Given the description of an element on the screen output the (x, y) to click on. 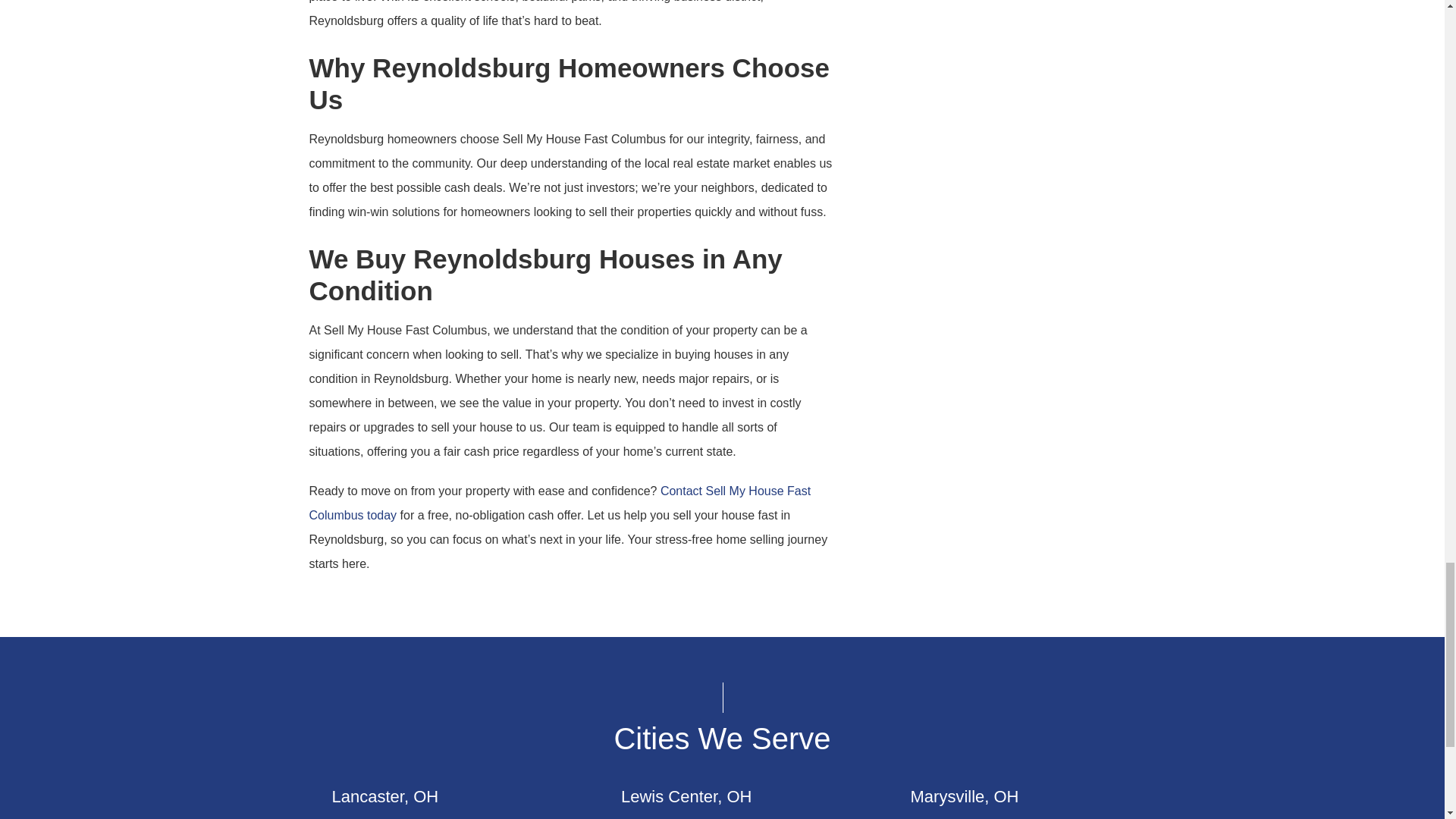
Contact Sell My House Fast Columbus today (559, 502)
Lewis Center, OH (686, 796)
Lancaster, OH (385, 796)
Marysville, OH (963, 796)
